Given the description of an element on the screen output the (x, y) to click on. 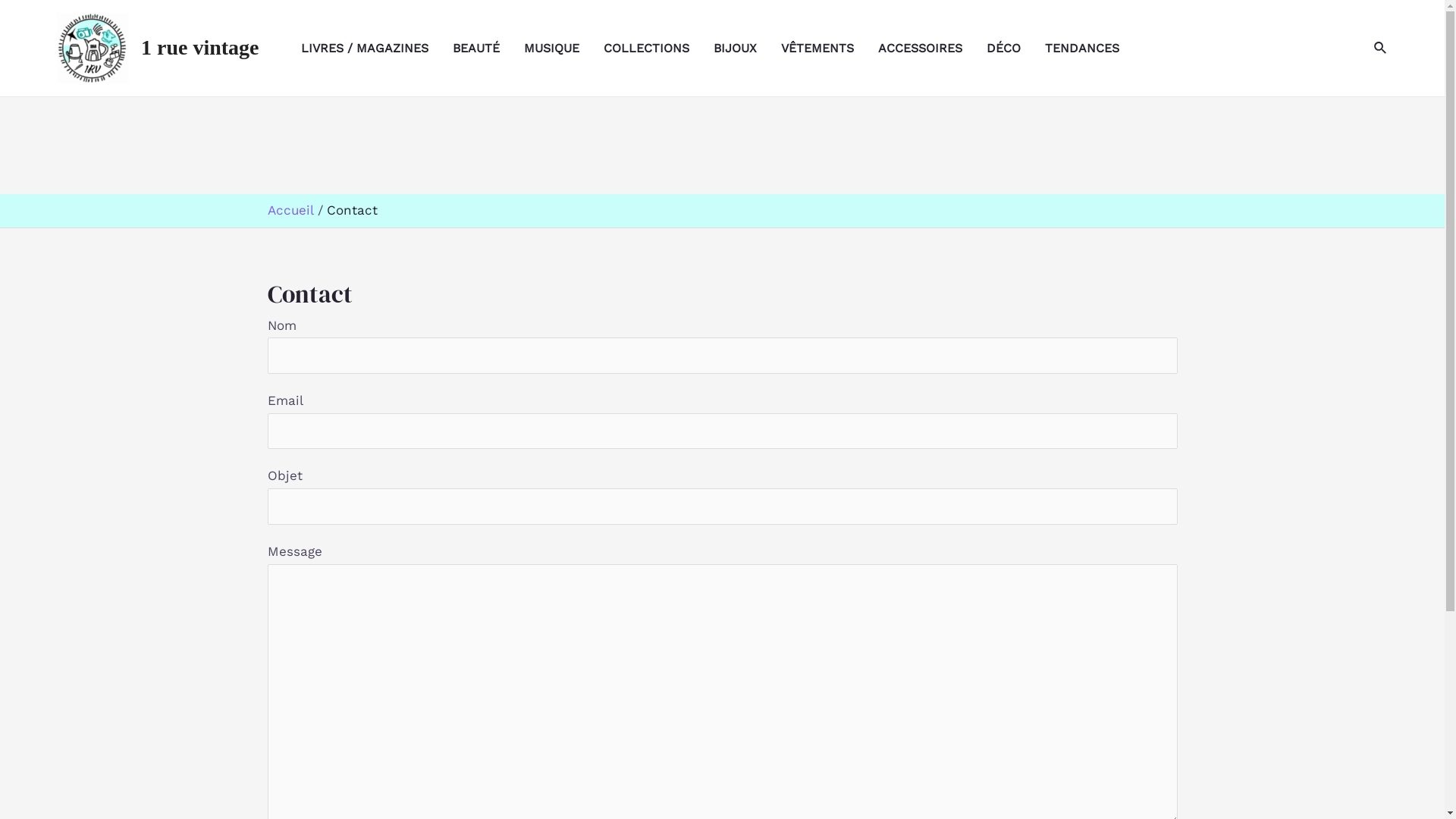
COLLECTIONS Element type: text (658, 47)
TENDANCES Element type: text (1093, 47)
Rechercher Element type: text (1380, 47)
LIVRES / MAGAZINES Element type: text (376, 47)
MUSIQUE Element type: text (563, 47)
Accueil Element type: text (289, 209)
1 rue vintage Element type: text (200, 47)
ACCESSOIRES Element type: text (932, 47)
BIJOUX Element type: text (747, 47)
